Given the description of an element on the screen output the (x, y) to click on. 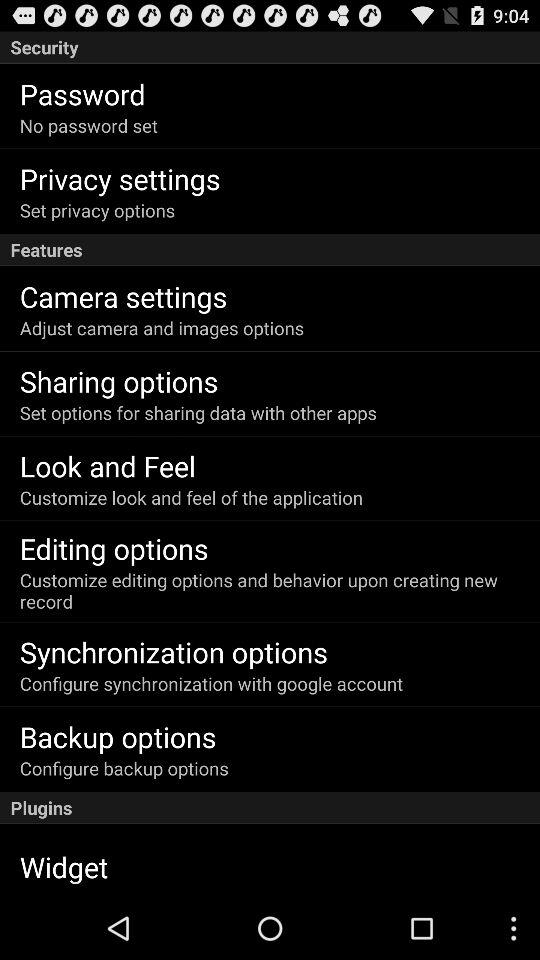
press the configure synchronization with (211, 683)
